Given the description of an element on the screen output the (x, y) to click on. 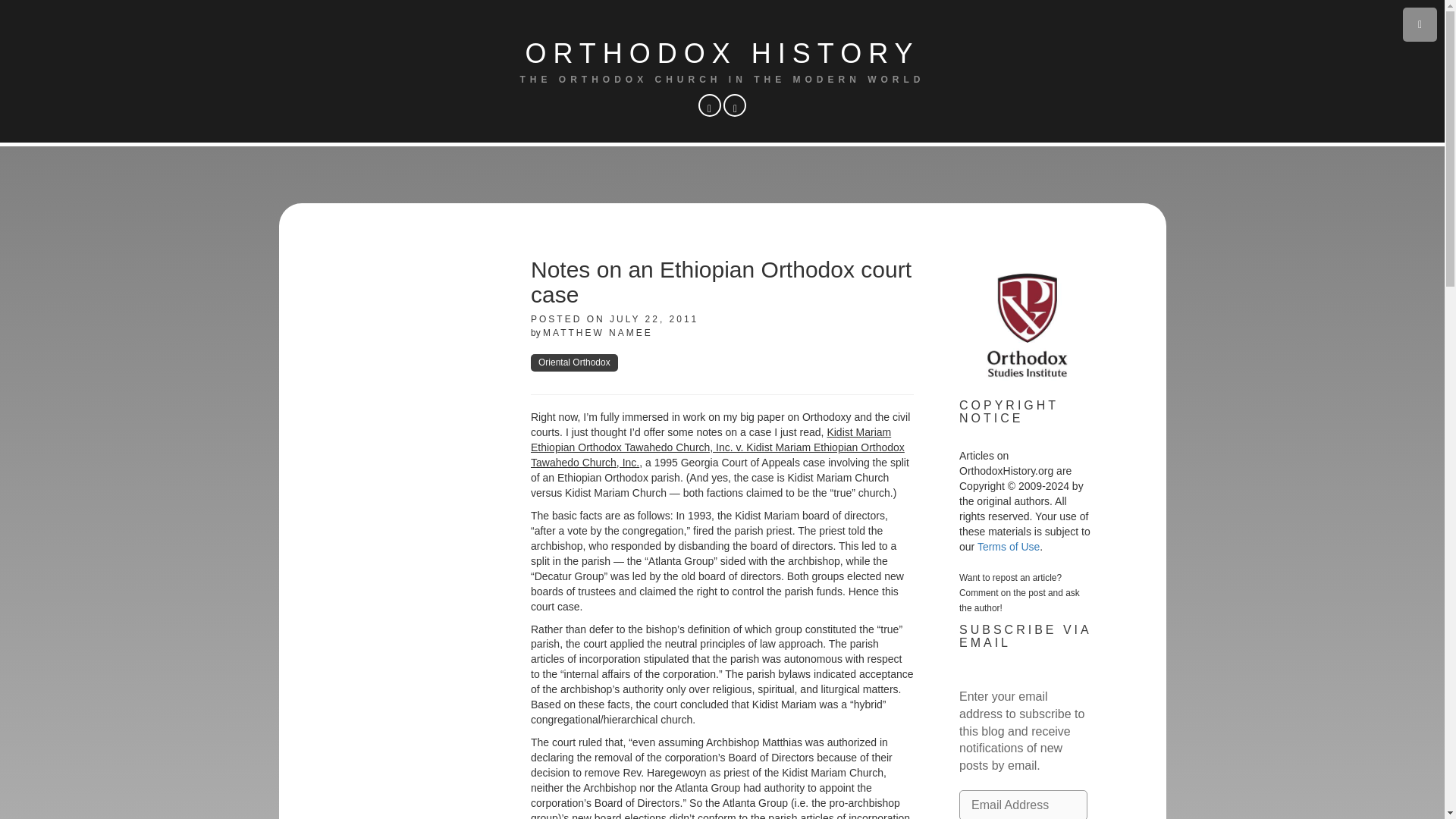
Posts by Matthew Namee (597, 332)
JULY 22, 2011 (654, 318)
MATTHEW NAMEE (597, 332)
Terms of Use (1007, 546)
